Given the description of an element on the screen output the (x, y) to click on. 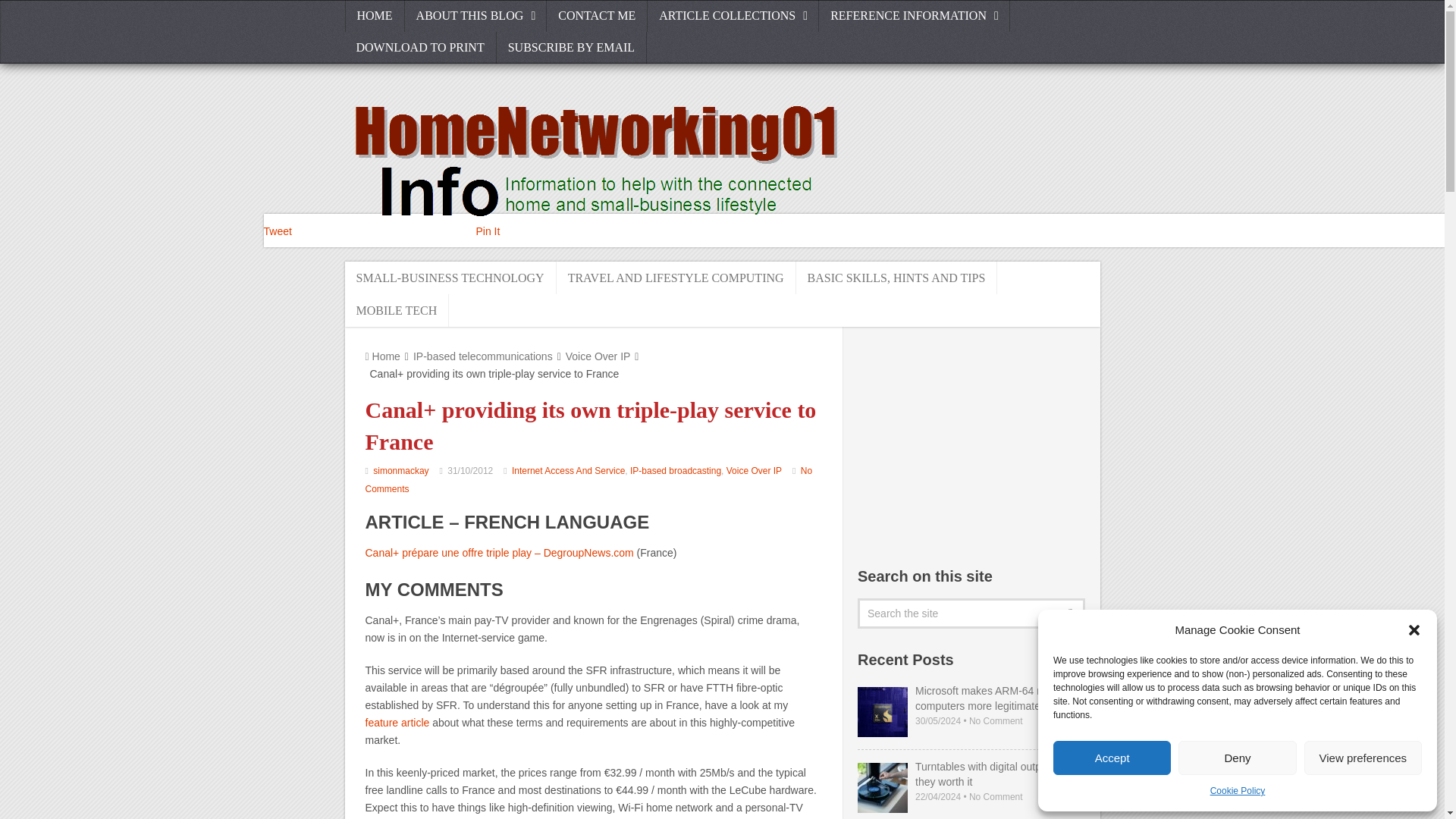
View all posts in Internet Access And Service (568, 470)
CONTACT ME (597, 15)
REFERENCE INFORMATION (914, 15)
View all posts in IP-based broadcasting (675, 470)
Microsoft makes ARM-64 regular computers more legitimate (970, 698)
ARTICLE COLLECTIONS (732, 15)
SUBSCRIBE BY EMAIL (571, 47)
Advertisement (970, 444)
View preferences (1363, 757)
ABOUT THIS BLOG (475, 15)
View all posts in Voice Over IP (753, 470)
Cookie Policy (1237, 791)
DOWNLOAD TO PRINT (419, 47)
HOME (373, 15)
Posts by simonmackay (400, 470)
